Given the description of an element on the screen output the (x, y) to click on. 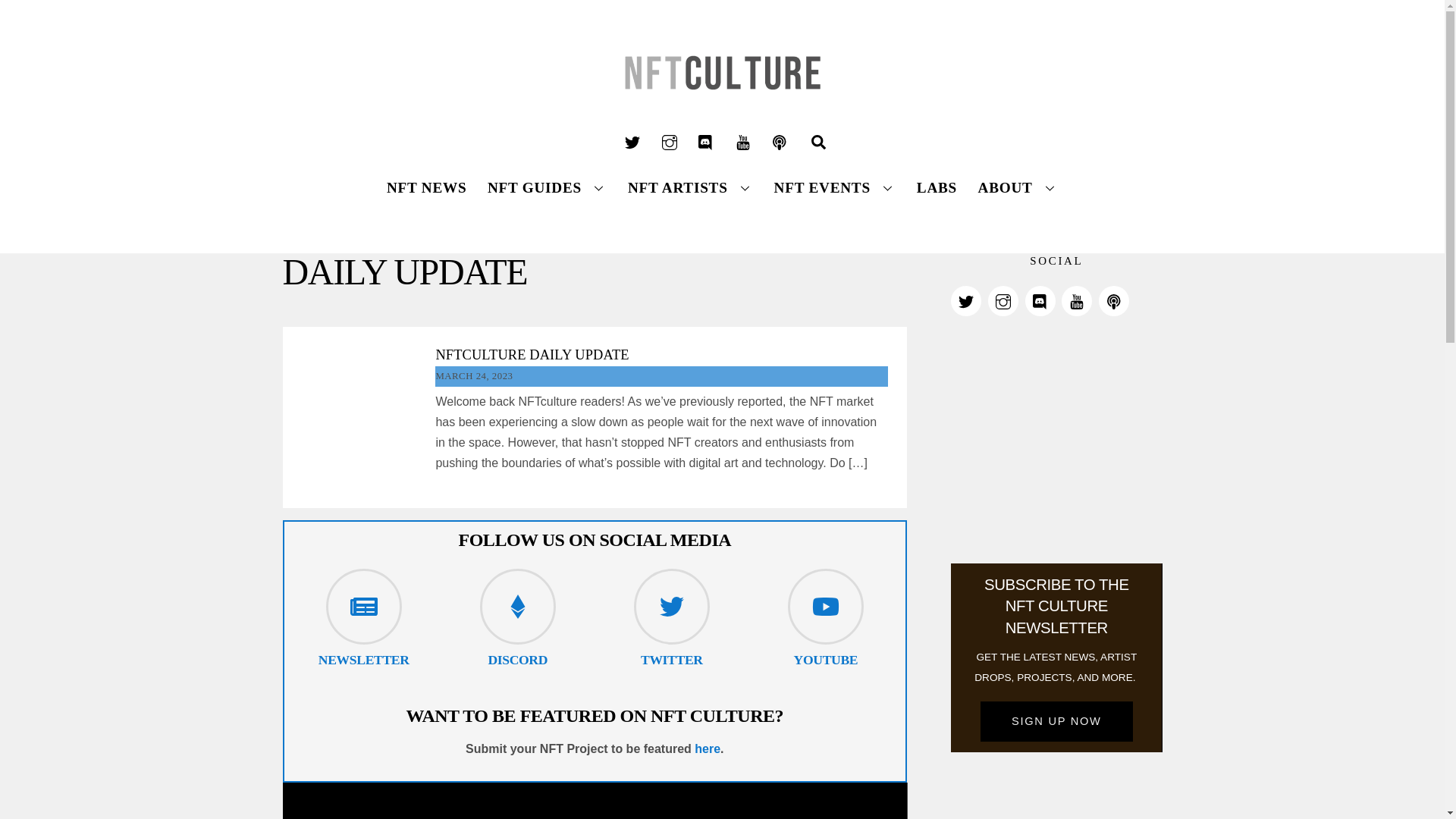
YOUTUBE (826, 659)
NFT EVENTS (834, 187)
NEWSLETTER (363, 659)
Search (721, 177)
DISCORD (817, 141)
here (517, 659)
LABS (707, 748)
NFT CULTURE (936, 187)
NFT NEWS (722, 103)
TWITTER (426, 187)
NFTCULTURE DAILY UPDATE (671, 659)
ABOUT (531, 354)
NFT GUIDES (1018, 187)
NFT ARTISTS (547, 187)
